Given the description of an element on the screen output the (x, y) to click on. 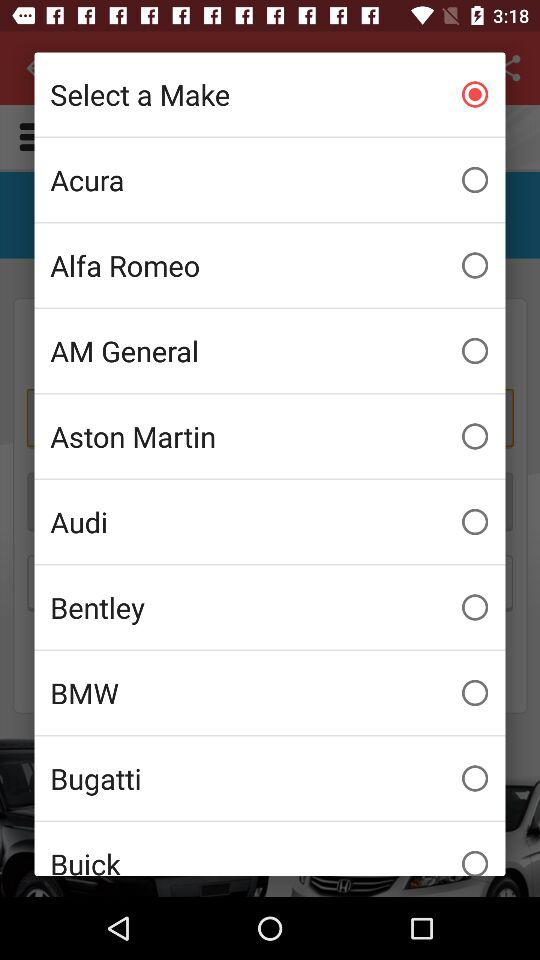
flip until the select a make (269, 94)
